Given the description of an element on the screen output the (x, y) to click on. 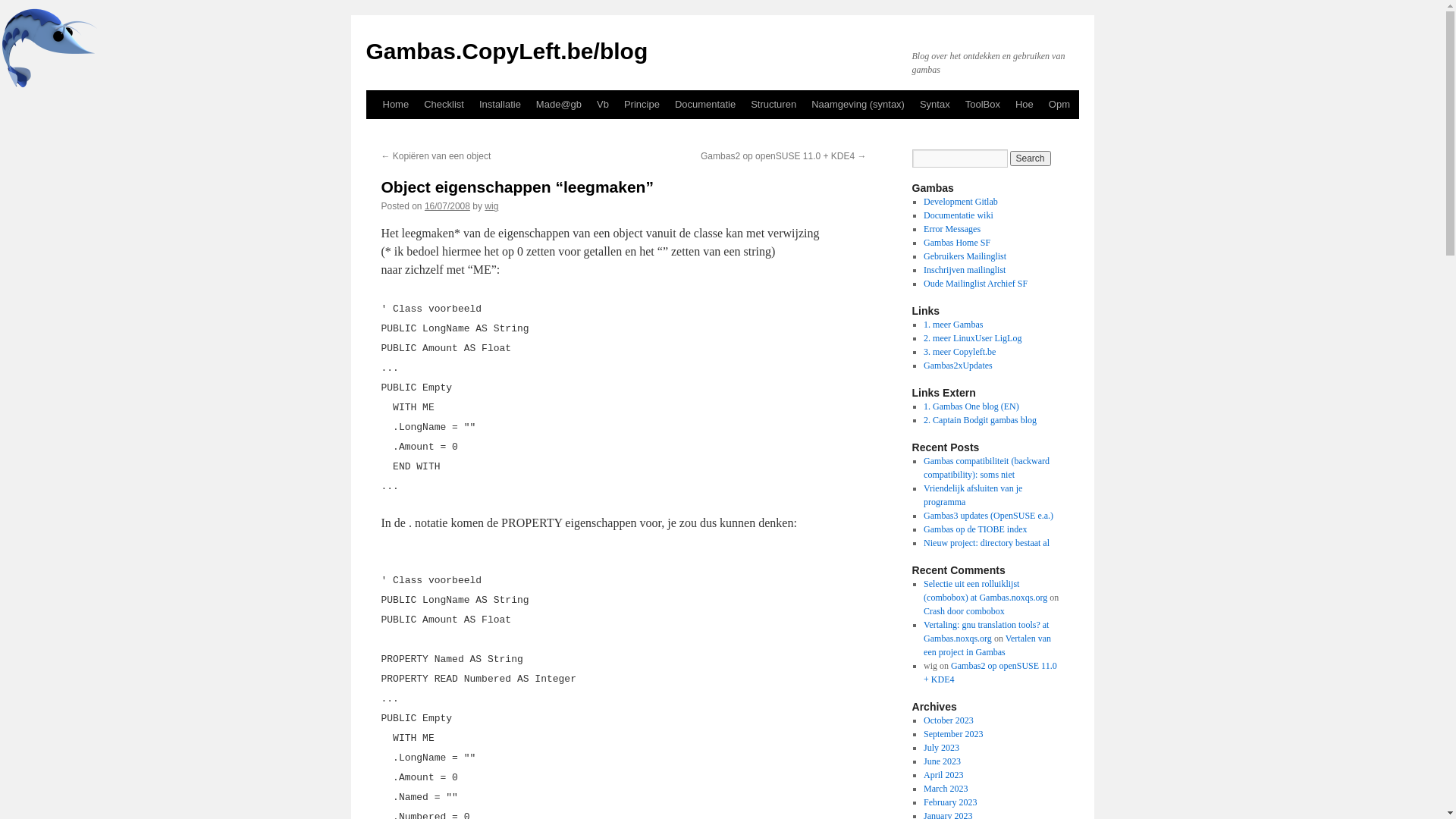
September 2023 Element type: text (952, 733)
Error Messages Element type: text (951, 228)
Hoe Element type: text (1024, 104)
Gambas3 updates (OpenSUSE e.a.) Element type: text (988, 515)
2. Captain Bodgit gambas blog Element type: text (979, 419)
Checklist Element type: text (443, 104)
Made@gb Element type: text (558, 104)
Installatie Element type: text (499, 104)
March 2023 Element type: text (945, 788)
1. meer Gambas Element type: text (952, 324)
Development Gitlab Element type: text (960, 201)
Nieuw project: directory bestaat al Element type: text (986, 542)
Vriendelijk afsluiten van je programma Element type: text (972, 495)
Gambas op de TIOBE index Element type: text (974, 529)
Oude Mailinglist Archief SF Element type: text (975, 283)
3. meer Copyleft.be Element type: text (959, 351)
Syntax Element type: text (934, 104)
Naamgeving (syntax) Element type: text (857, 104)
2. meer LinuxUser LigLog Element type: text (972, 337)
Gambas Home SF Element type: text (956, 242)
Search Element type: text (1030, 158)
16/07/2008 Element type: text (447, 205)
Selectie uit een rolluiklijst (combobox) at Gambas.noxqs.org Element type: text (985, 590)
Documentatie Element type: text (705, 104)
1. Gambas One blog (EN) Element type: text (971, 406)
wig Element type: text (491, 205)
February 2023 Element type: text (949, 802)
Vertaling: gnu translation tools? at Gambas.noxqs.org Element type: text (985, 631)
Opm Element type: text (1059, 104)
Vertalen van een project in Gambas Element type: text (987, 645)
Gambas2xUpdates Element type: text (957, 365)
Gebruikers Mailinglist Element type: text (964, 256)
Principe Element type: text (641, 104)
April 2023 Element type: text (943, 774)
Crash door combobox Element type: text (963, 610)
Inschrijven mailinglist Element type: text (964, 269)
Vb Element type: text (602, 104)
July 2023 Element type: text (941, 747)
Home Element type: text (395, 104)
October 2023 Element type: text (948, 720)
ToolBox Element type: text (982, 104)
Skip to content Element type: text (372, 133)
Documentatie wiki Element type: text (958, 215)
Structuren Element type: text (773, 104)
Gambas2 op openSUSE 11.0 + KDE4 Element type: text (990, 672)
June 2023 Element type: text (941, 761)
Gambas compatibiliteit (backward compatibility): soms niet Element type: text (986, 467)
Gambas.CopyLeft.be/blog Element type: text (506, 50)
